Given the description of an element on the screen output the (x, y) to click on. 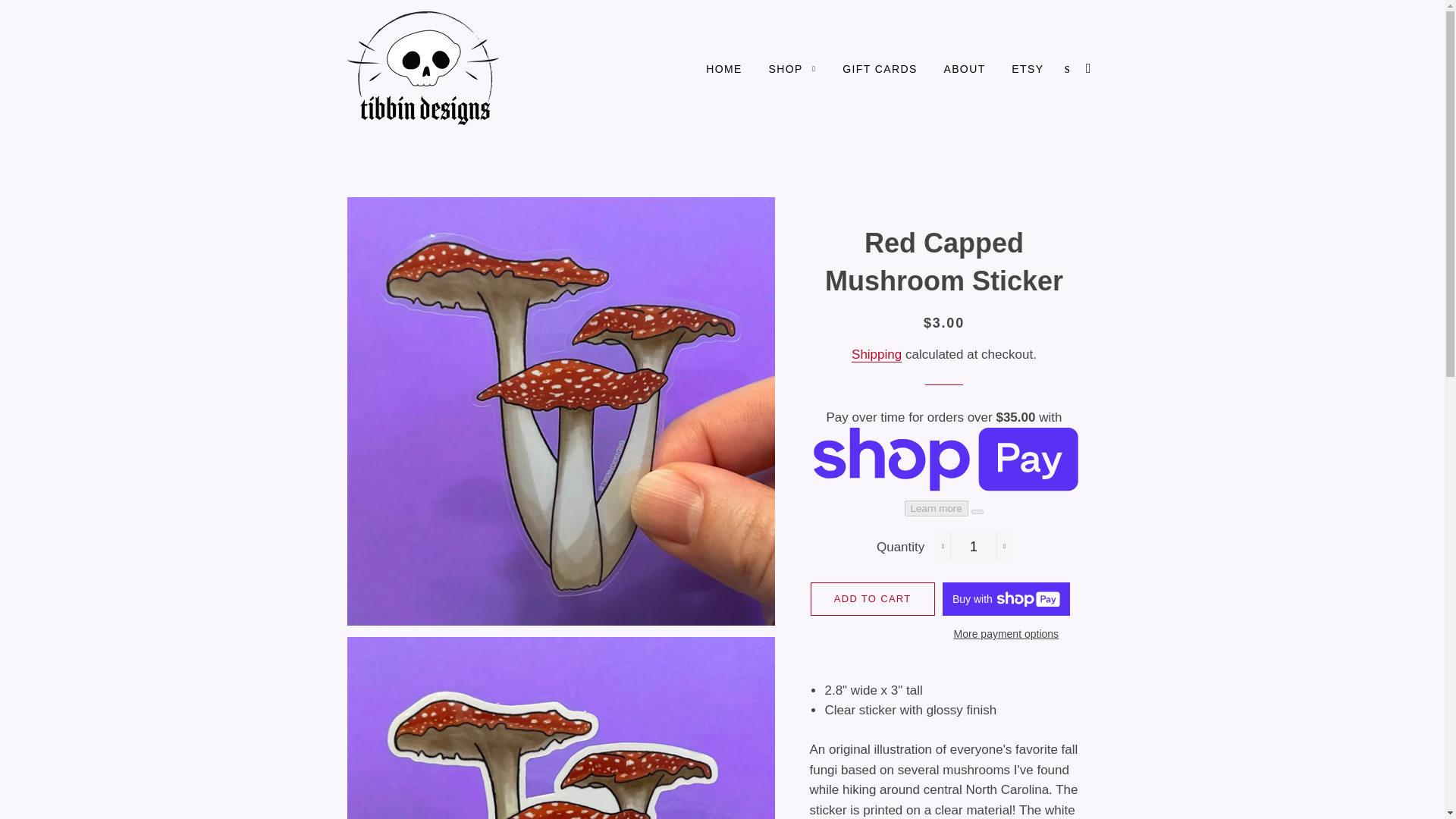
ETSY (1027, 69)
HOME (724, 69)
SHOP (792, 69)
1 (973, 546)
ABOUT (963, 69)
GIFT CARDS (879, 69)
